Given the description of an element on the screen output the (x, y) to click on. 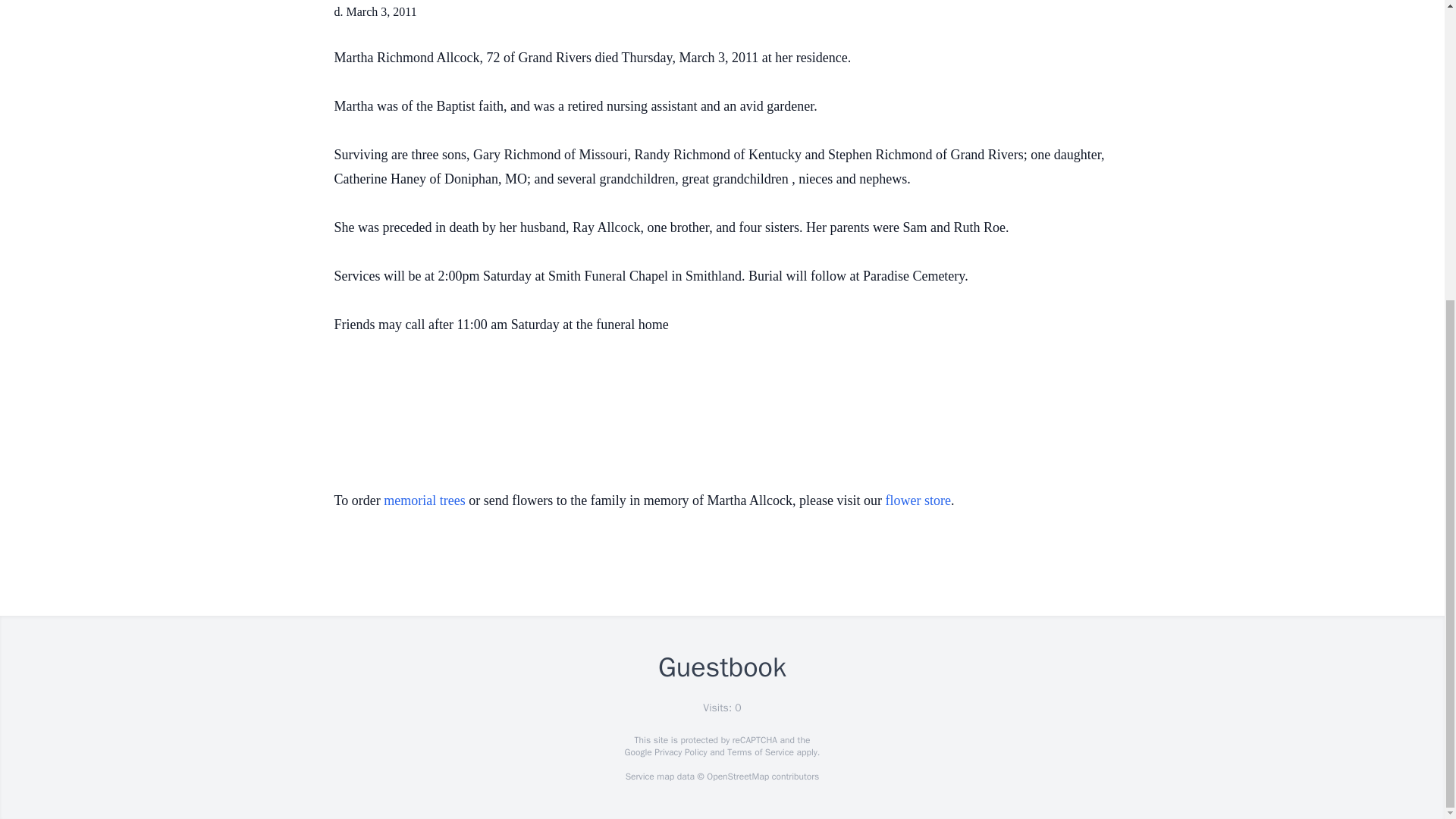
flower store (917, 500)
Terms of Service (759, 752)
Privacy Policy (679, 752)
OpenStreetMap (737, 776)
memorial trees (424, 500)
